Given the description of an element on the screen output the (x, y) to click on. 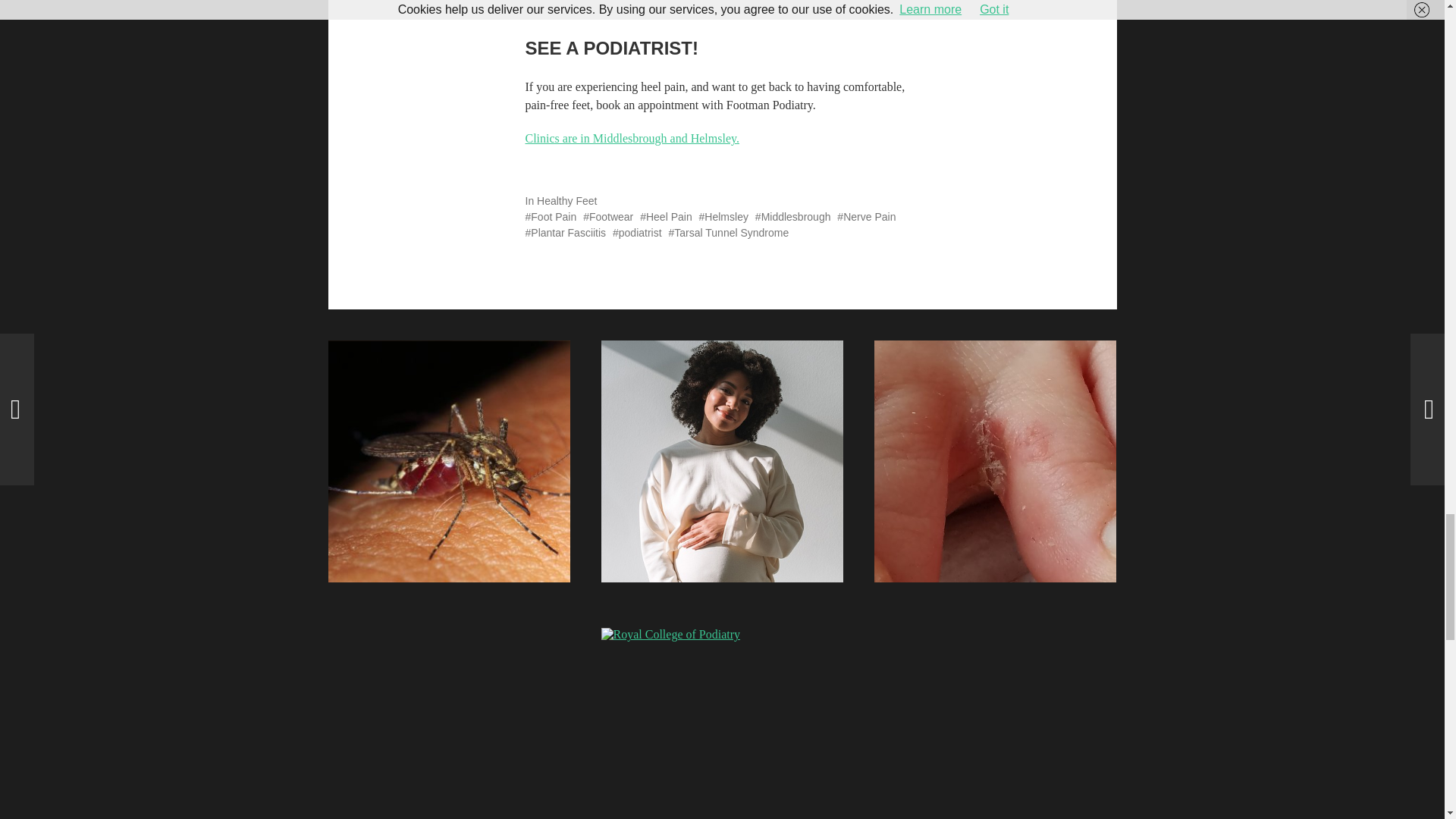
Middlesbrough (793, 216)
Footwear (608, 216)
Heel Pain (666, 216)
Clinics are in Middlesbrough and Helmsley. (631, 137)
Healthy Feet (566, 200)
High Heels cause bad posture, and increased foot pressure. (826, 7)
Foot Pain (550, 216)
Helmsley (723, 216)
